Given the description of an element on the screen output the (x, y) to click on. 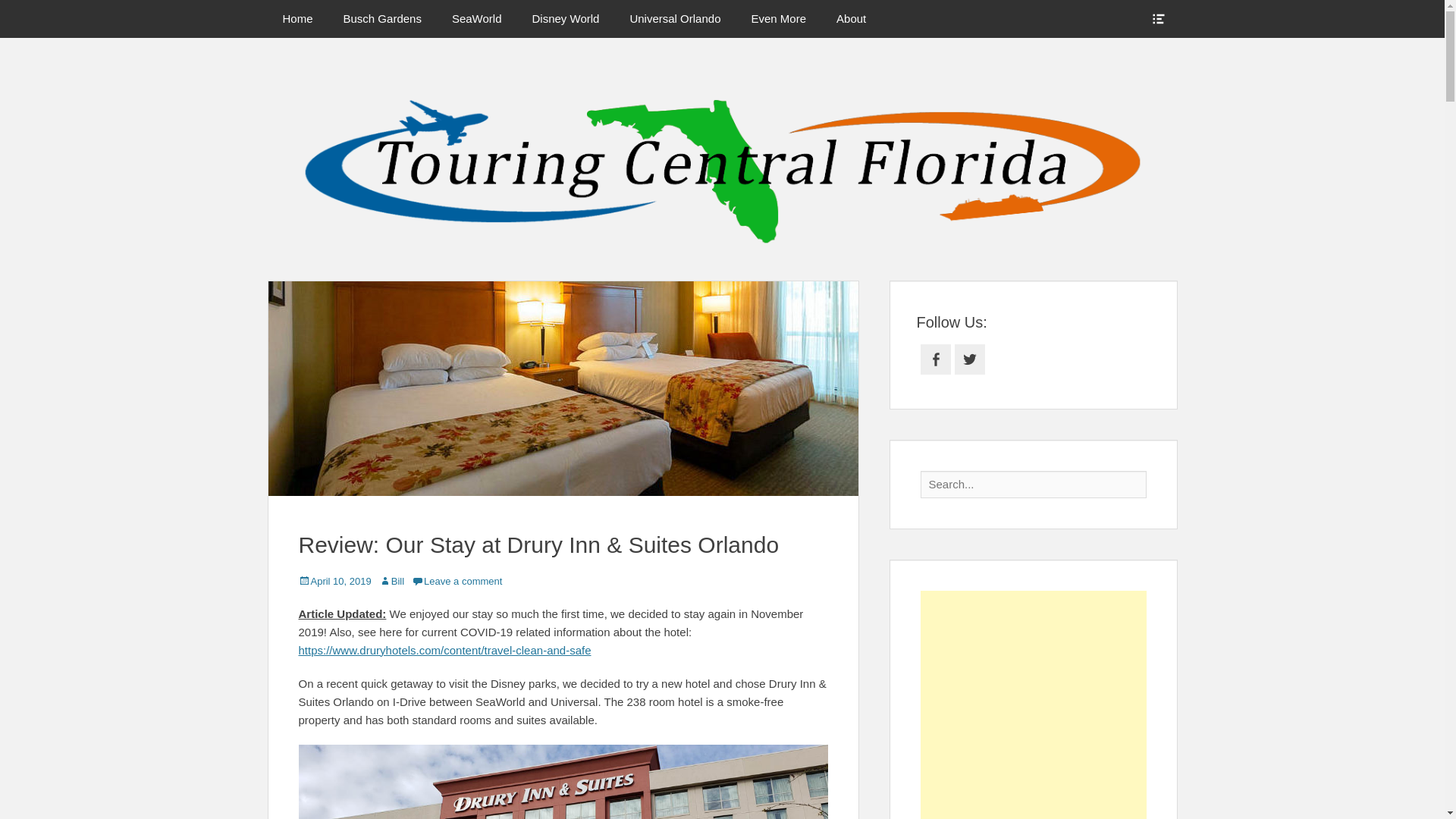
Even More (778, 18)
Universal Orlando (674, 18)
Home (296, 18)
Busch Gardens (382, 18)
Leave a comment (457, 581)
SeaWorld (476, 18)
Touring Central Florida (888, 85)
Show Header Sidebar Content (1157, 18)
April 10, 2019 (334, 581)
Disney World (565, 18)
Bill (391, 581)
About (850, 18)
